Given the description of an element on the screen output the (x, y) to click on. 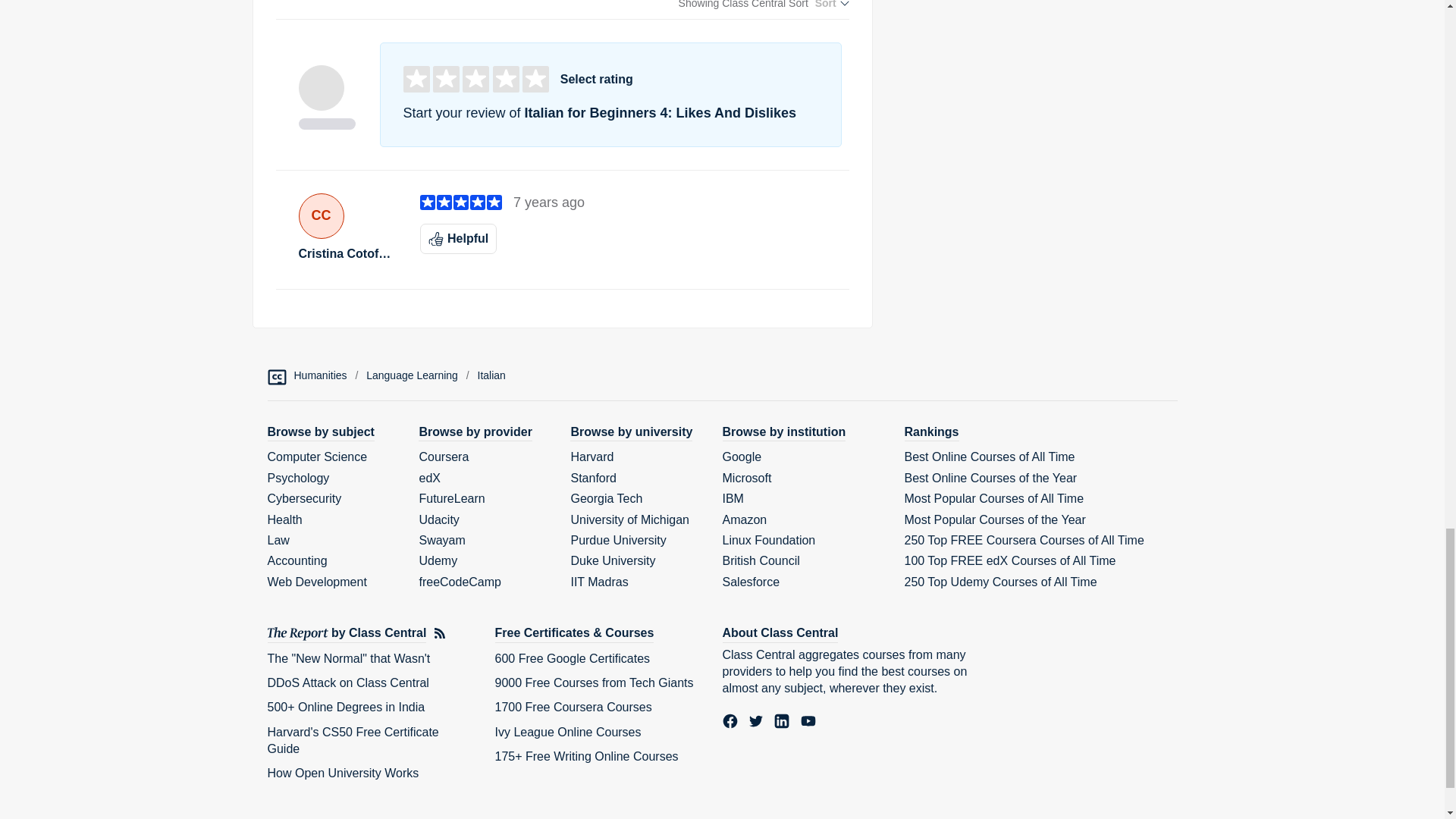
600 Free Google Certificates (572, 658)
Harvard's CS50 Free Certificate Guide (352, 740)
The "New Normal" that Wasn't (347, 658)
How Open University Works (342, 772)
1700 Free Coursera Courses (572, 707)
9000 Free Courses from Tech Giants (594, 682)
DDoS Attack on Class Central (347, 682)
Ivy League Online Courses (567, 731)
Free Courses and Certificates (574, 633)
Cristina Cotofana (347, 253)
